Given the description of an element on the screen output the (x, y) to click on. 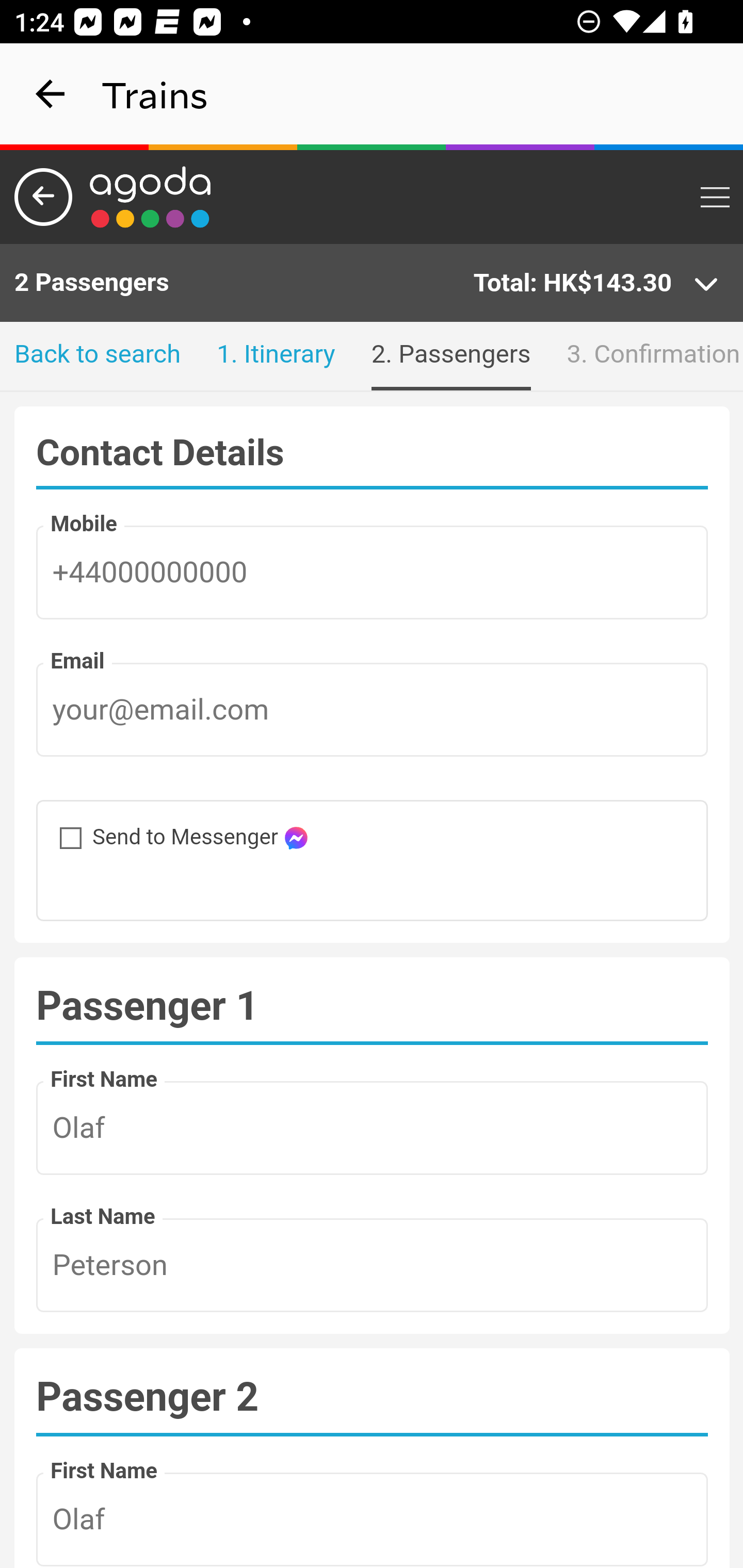
navigation_button (50, 93)
Link to main page 5418 (150, 197)
Total: HK$143.30 (596, 283)
Back to search (98, 355)
1. Itinerary (275, 355)
2. Passengers (450, 355)
Send to Messenger (59, 827)
